Given the description of an element on the screen output the (x, y) to click on. 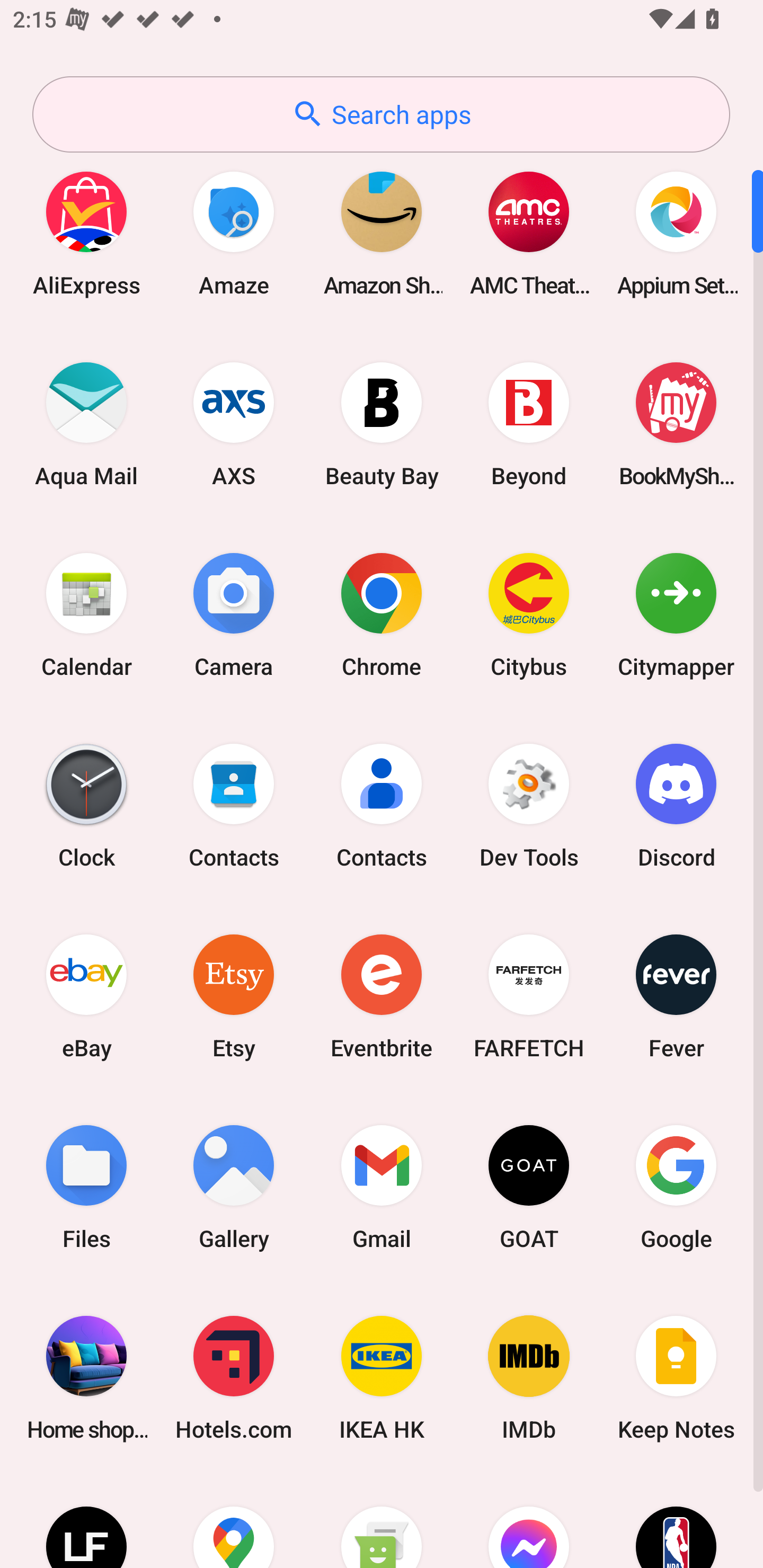
Citymapper (676, 614)
